Given the description of an element on the screen output the (x, y) to click on. 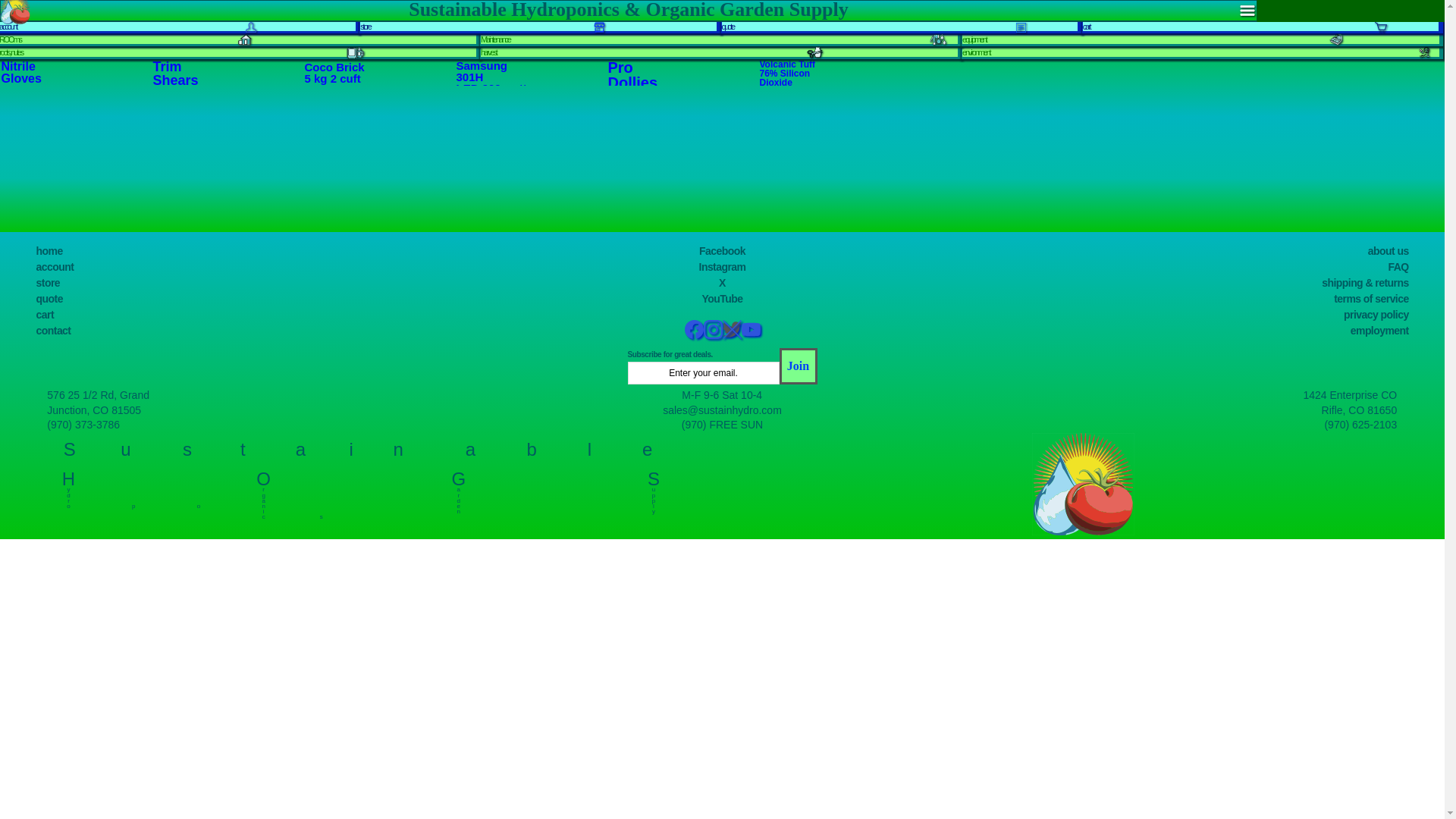
contact (53, 330)
environment (976, 51)
Instagram (721, 266)
Join (797, 366)
about us (1388, 250)
employment (1380, 330)
privacy policy (1376, 314)
equipment (974, 39)
cart (44, 314)
Coco Brick (334, 66)
